Given the description of an element on the screen output the (x, y) to click on. 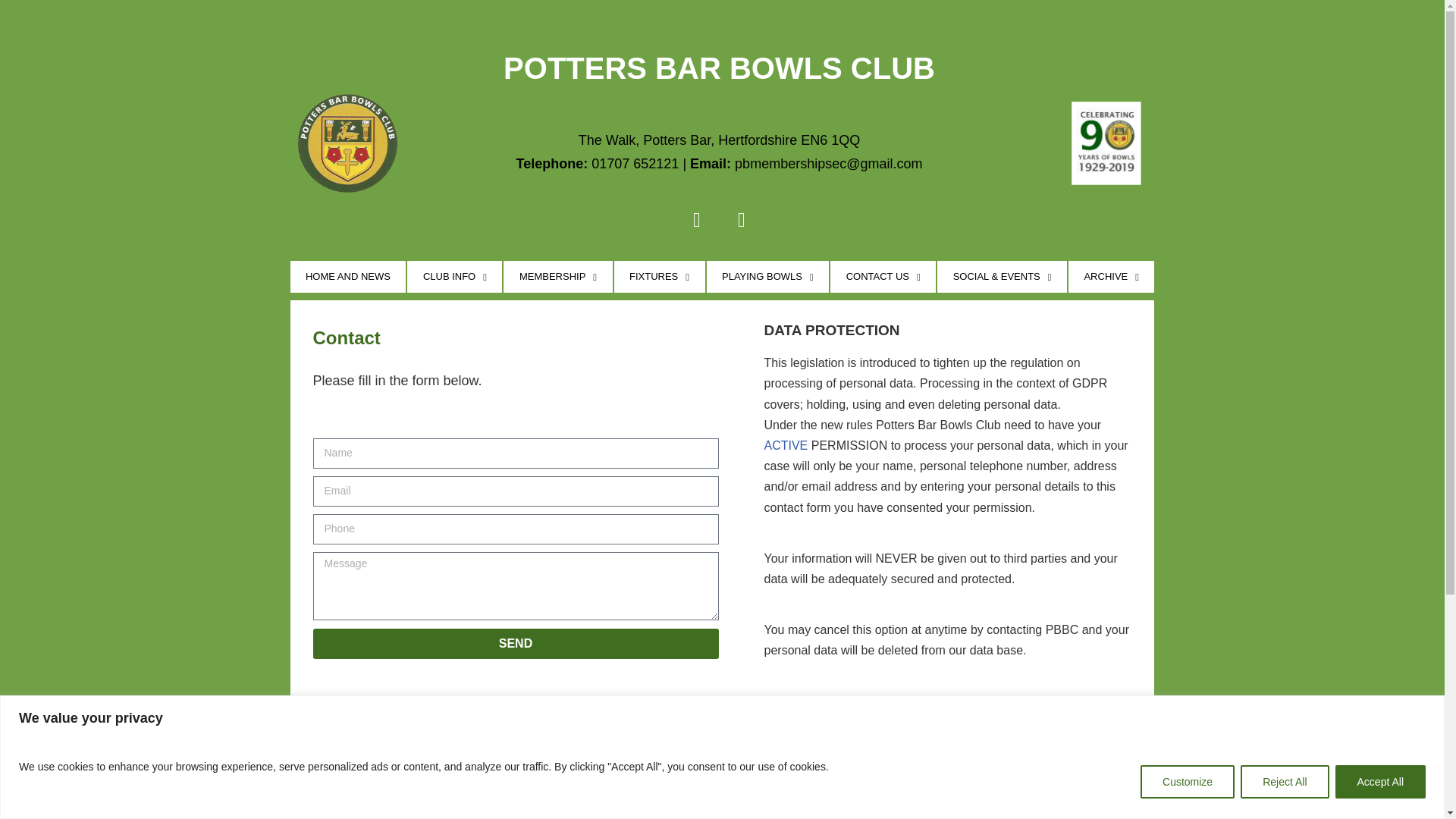
Skip to content (11, 31)
MEMBERSHIP (557, 276)
Customize (1187, 780)
CLUB INFO (454, 276)
FIXTURES (659, 276)
HOME AND NEWS (347, 276)
Reject All (1283, 780)
Accept All (1380, 780)
